Given the description of an element on the screen output the (x, y) to click on. 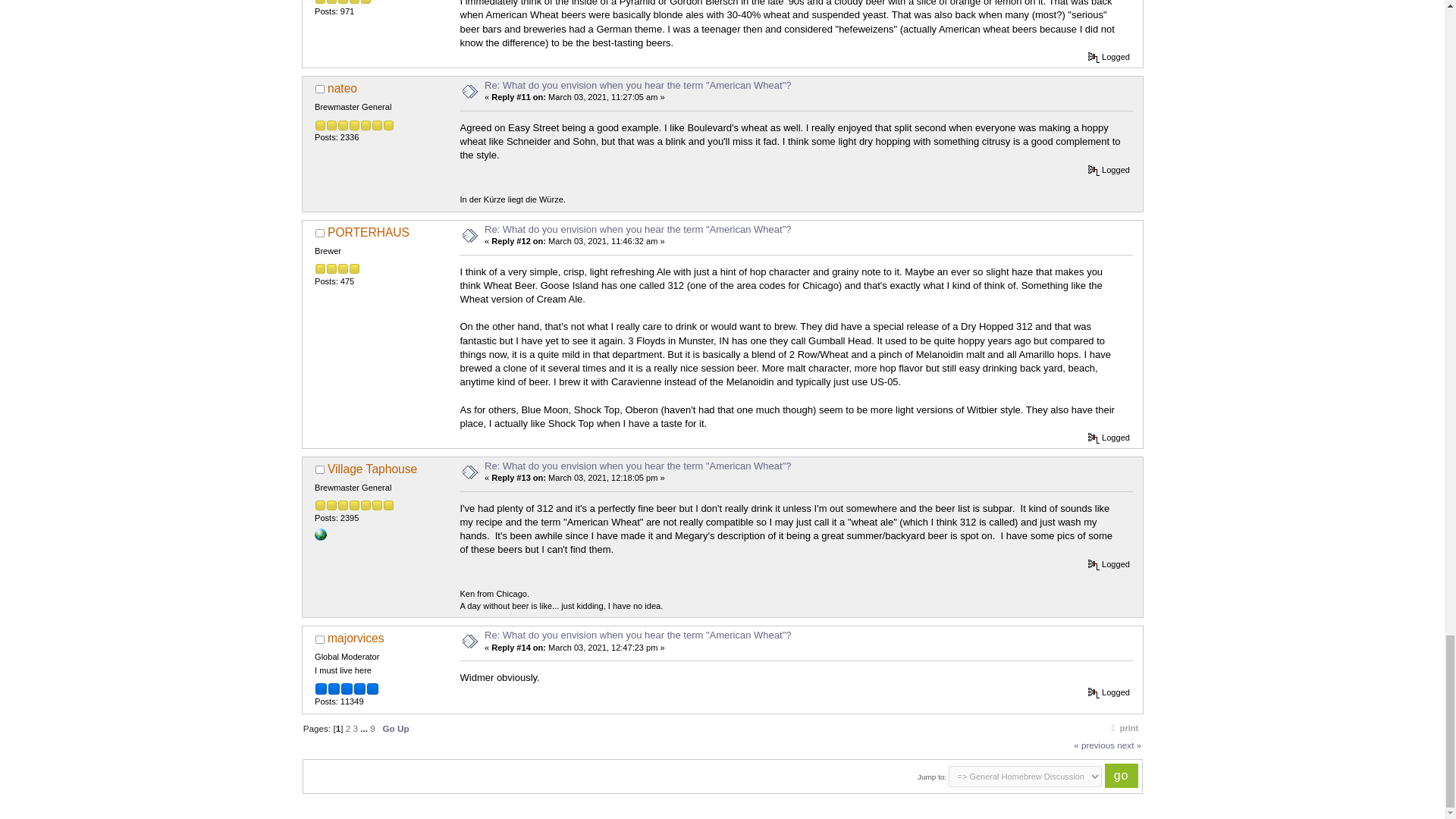
go (1121, 775)
